Given the description of an element on the screen output the (x, y) to click on. 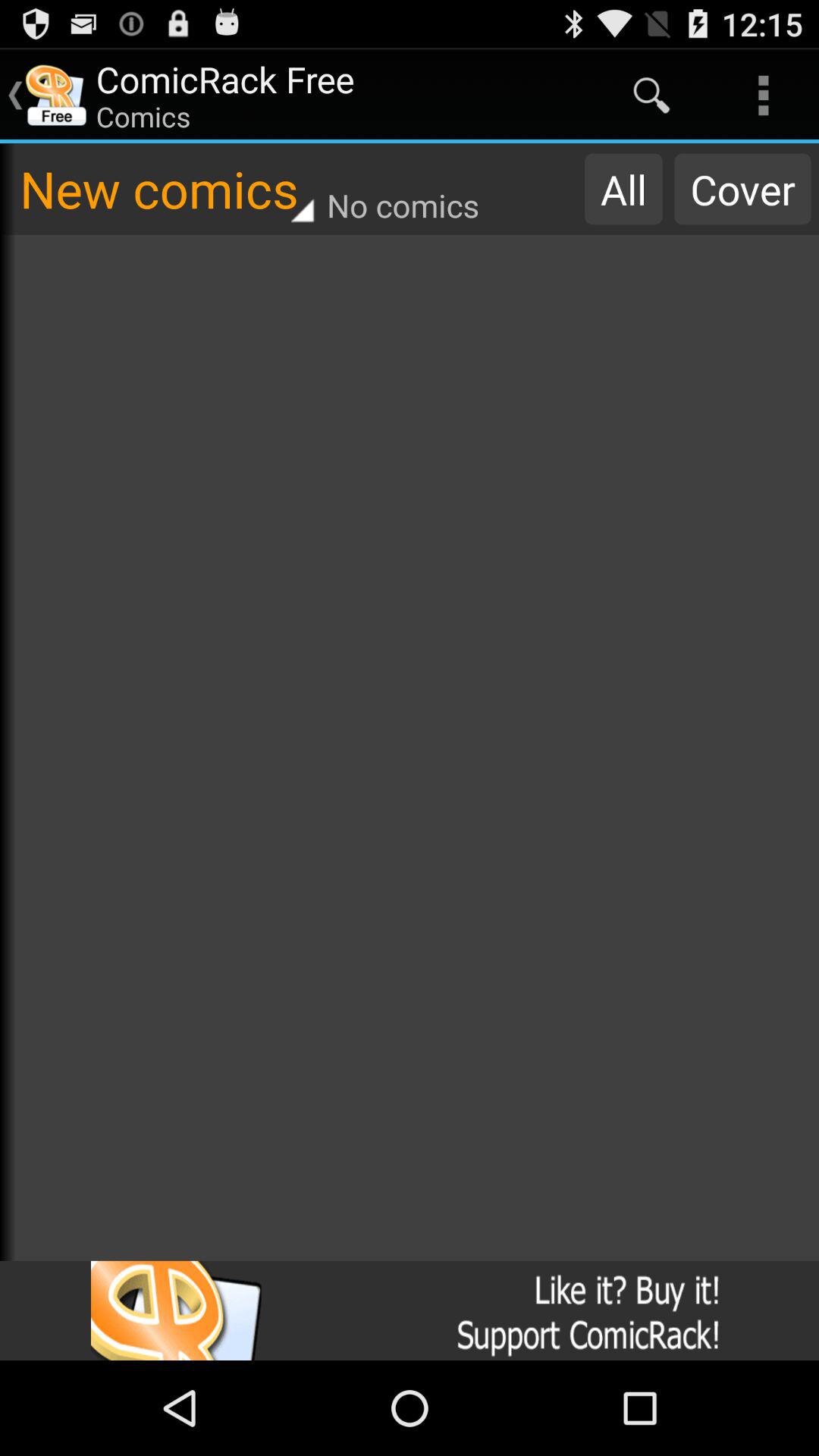
flip until the all item (623, 188)
